Given the description of an element on the screen output the (x, y) to click on. 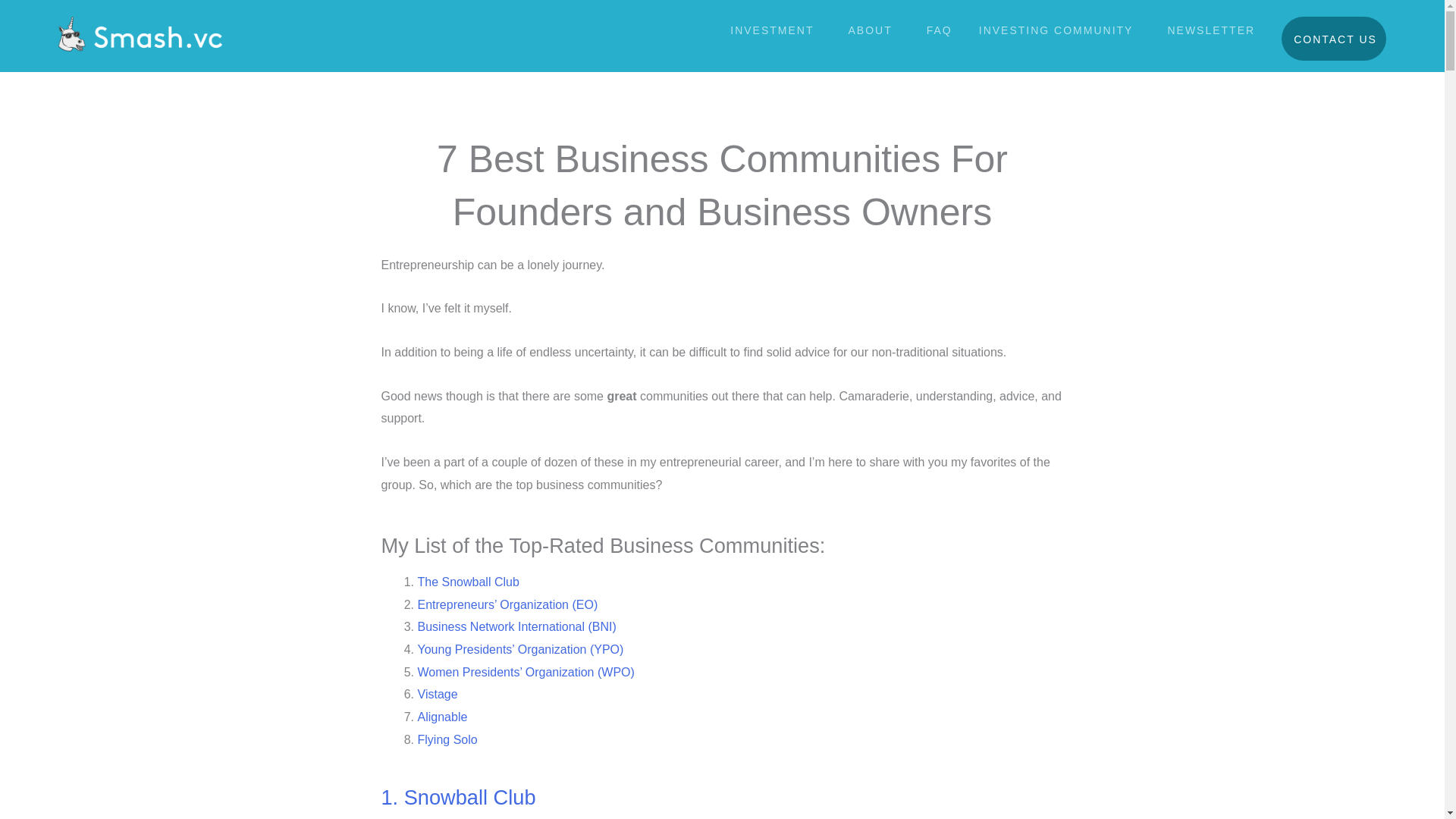
CONTACT US (1333, 38)
INVESTING COMMUNITY (1059, 30)
INVESTMENT (775, 30)
NEWSLETTER (1211, 30)
